Given the description of an element on the screen output the (x, y) to click on. 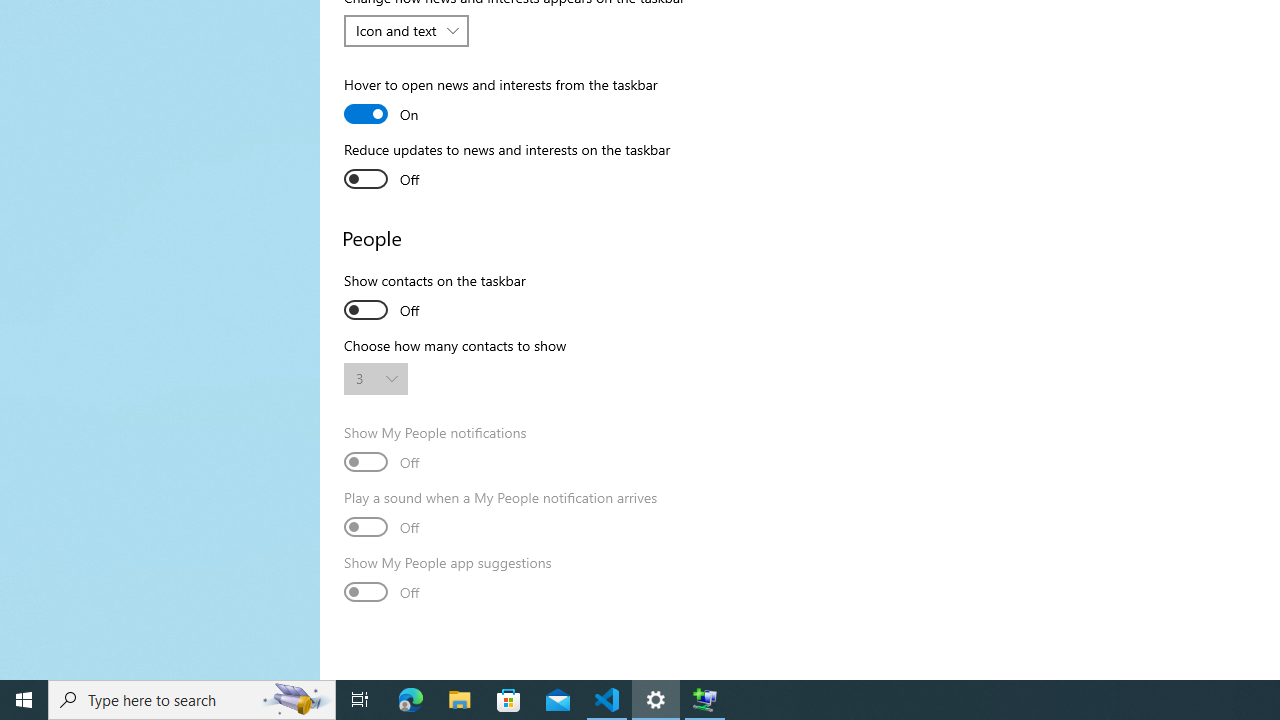
Show contacts on the taskbar (435, 298)
Hover to open news and interests from the taskbar (500, 102)
Choose how many contacts to show (376, 378)
Show My People notifications (435, 450)
Icon and text (395, 30)
